Given the description of an element on the screen output the (x, y) to click on. 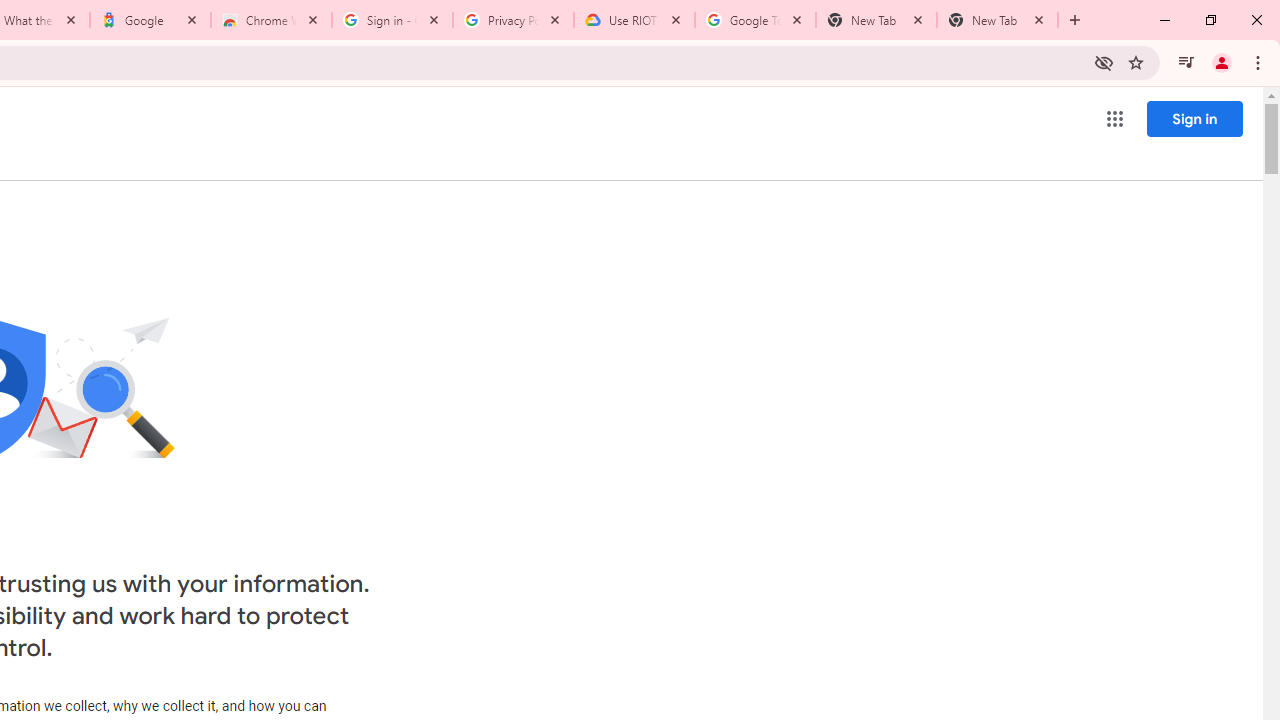
Google (150, 20)
Chrome Web Store - Color themes by Chrome (271, 20)
New Tab (997, 20)
